Given the description of an element on the screen output the (x, y) to click on. 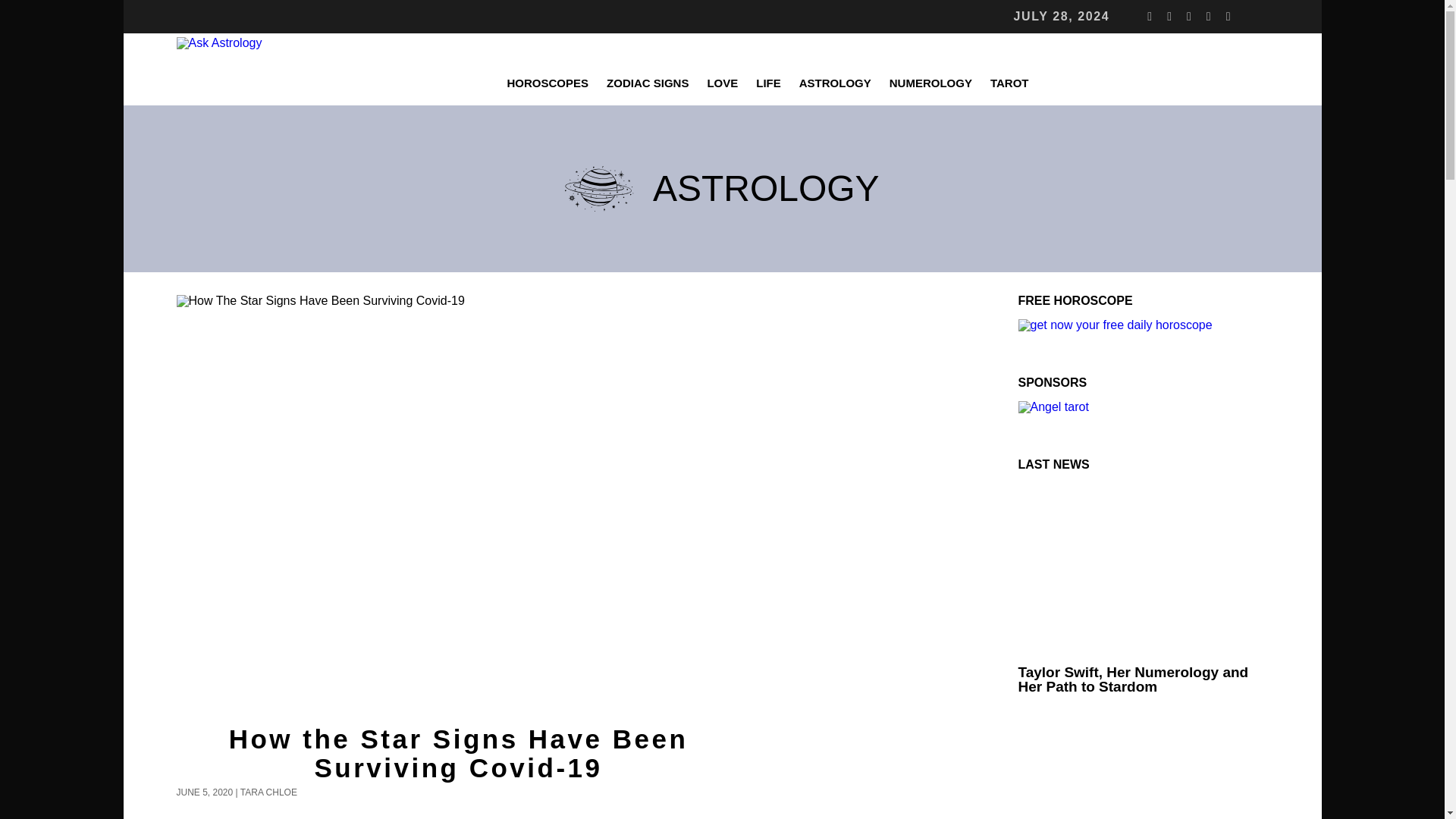
ZODIAC SIGNS (646, 82)
JULY 28, 2024 (1061, 16)
HOROSCOPES (547, 82)
